Given the description of an element on the screen output the (x, y) to click on. 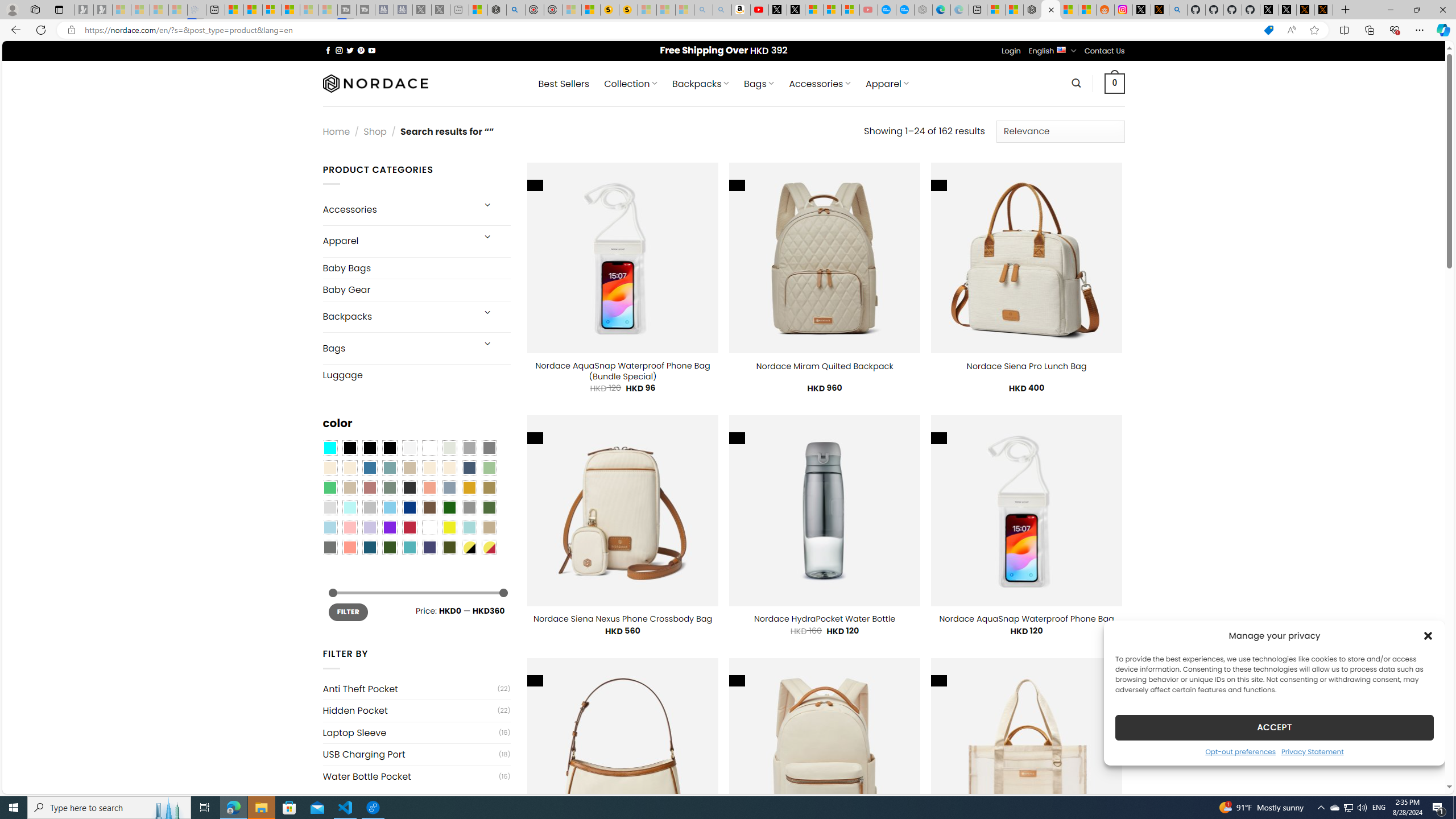
Mint (349, 507)
Gloom - YouTube - Sleeping (868, 9)
Privacy Statement (1312, 750)
View site information (70, 29)
poe - Search (515, 9)
Streaming Coverage | T3 - Sleeping (347, 9)
Back (13, 29)
Add this page to favorites (Ctrl+D) (1314, 29)
Shanghai, China Weather trends | Microsoft Weather (1086, 9)
X (795, 9)
The most popular Google 'how to' searches (904, 9)
